Given the description of an element on the screen output the (x, y) to click on. 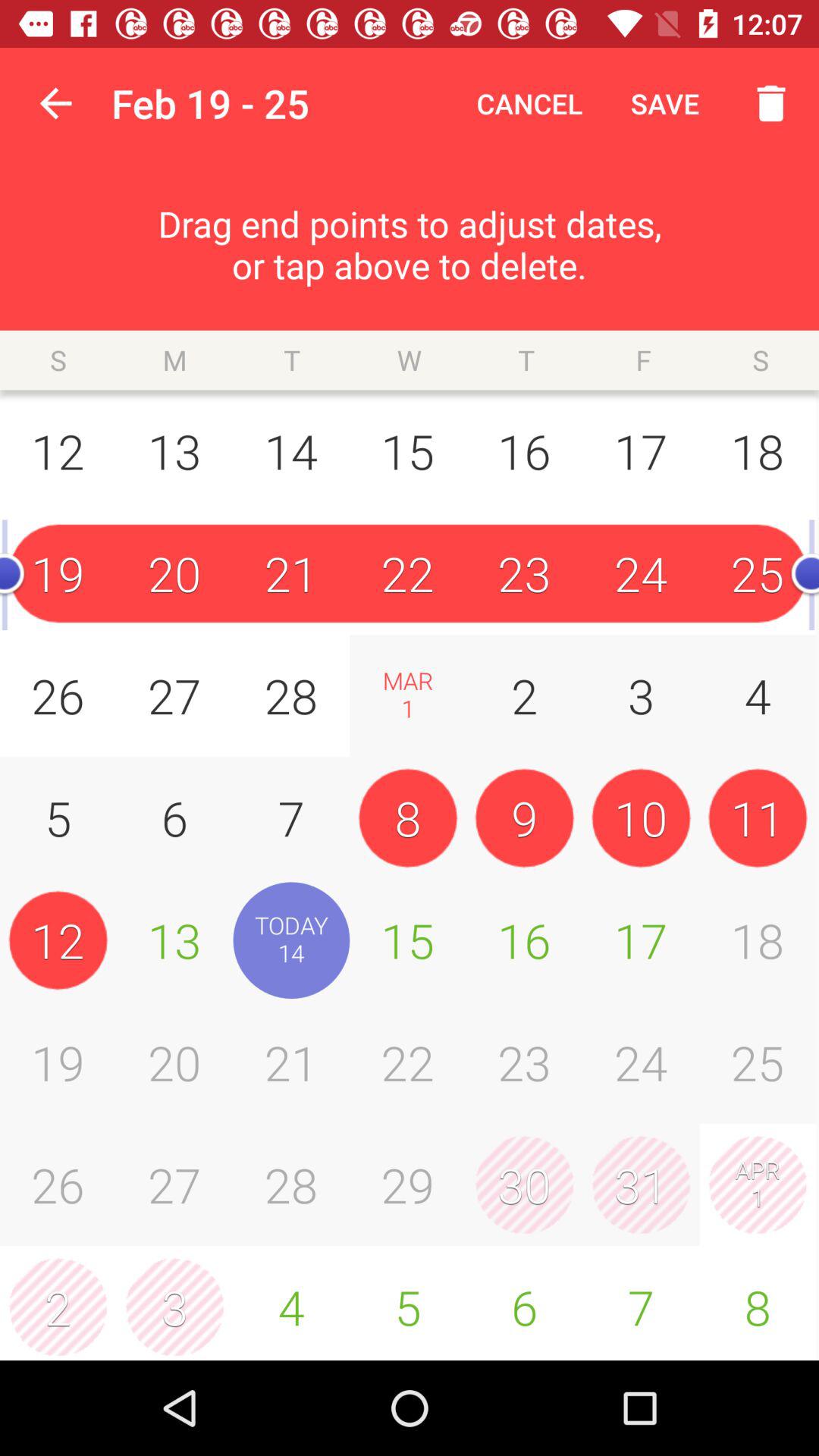
tap the item above the drag end points (664, 103)
